Given the description of an element on the screen output the (x, y) to click on. 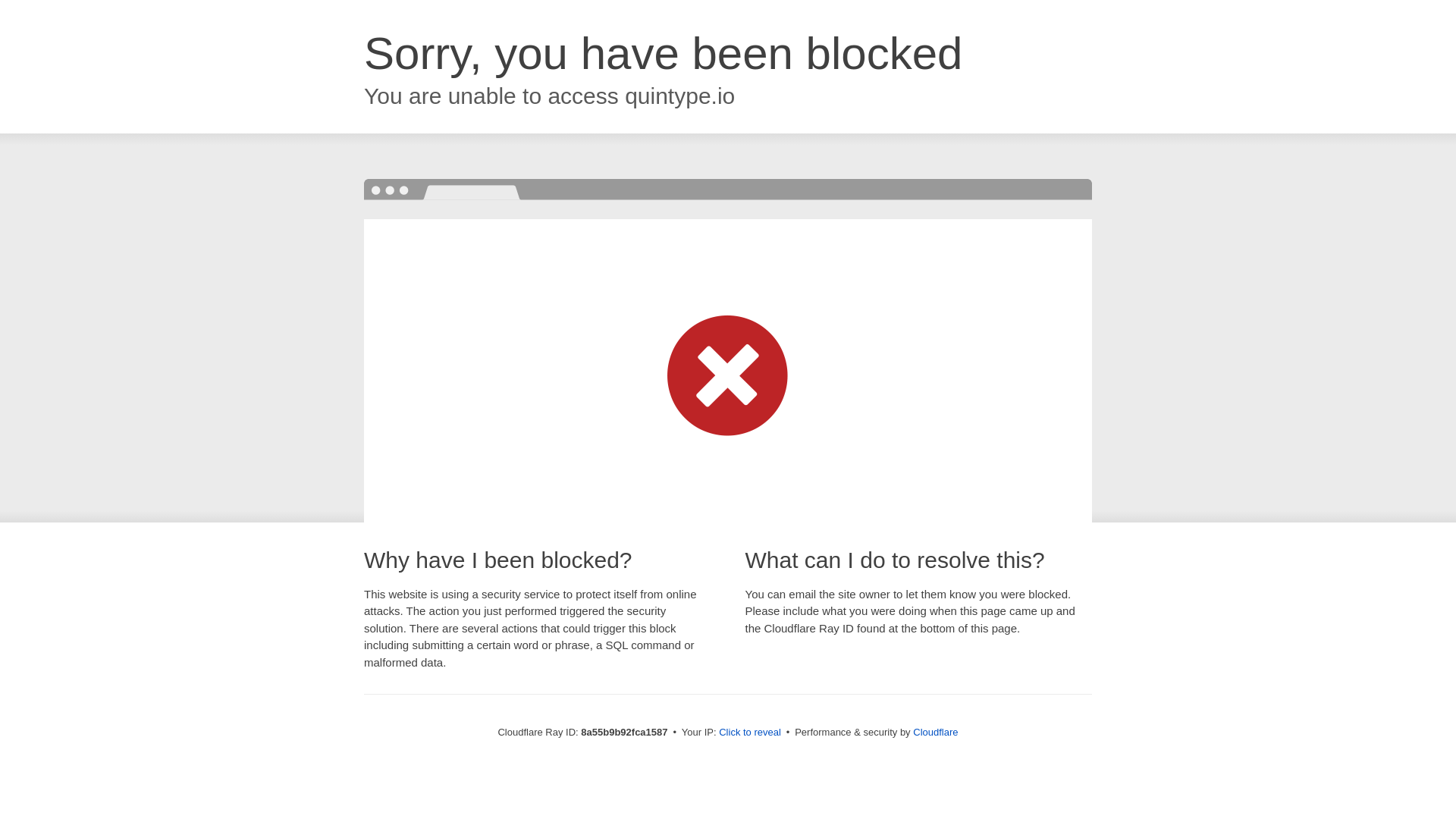
Cloudflare (935, 731)
Click to reveal (749, 732)
